Given the description of an element on the screen output the (x, y) to click on. 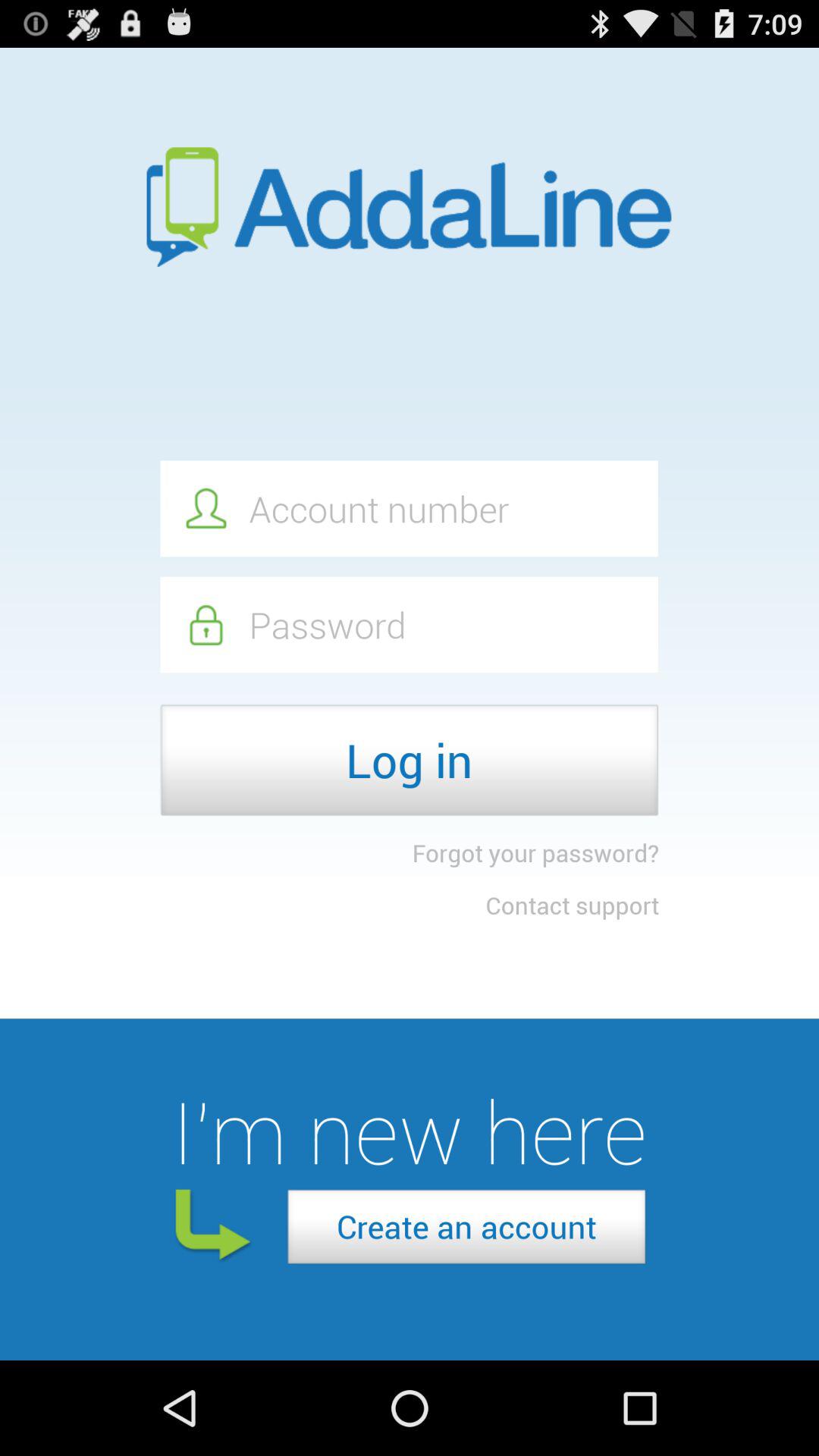
press contact support item (572, 904)
